Given the description of an element on the screen output the (x, y) to click on. 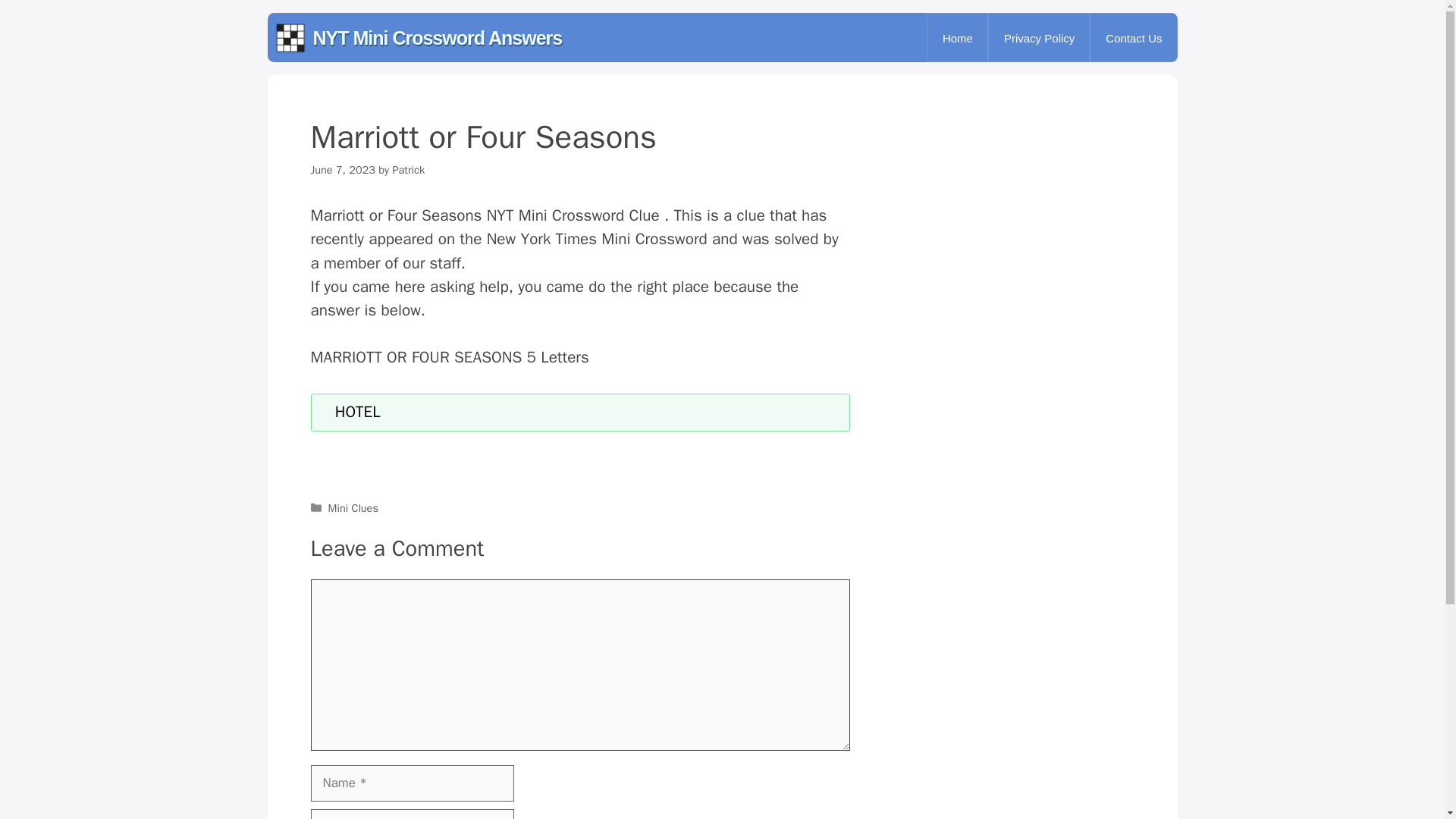
Privacy Policy (1038, 37)
View all posts by Patrick (408, 169)
Patrick (408, 169)
Contact Us (1133, 37)
Mini Clues (353, 508)
NYT Mini Crossword Answers (437, 37)
Home (957, 37)
